Given the description of an element on the screen output the (x, y) to click on. 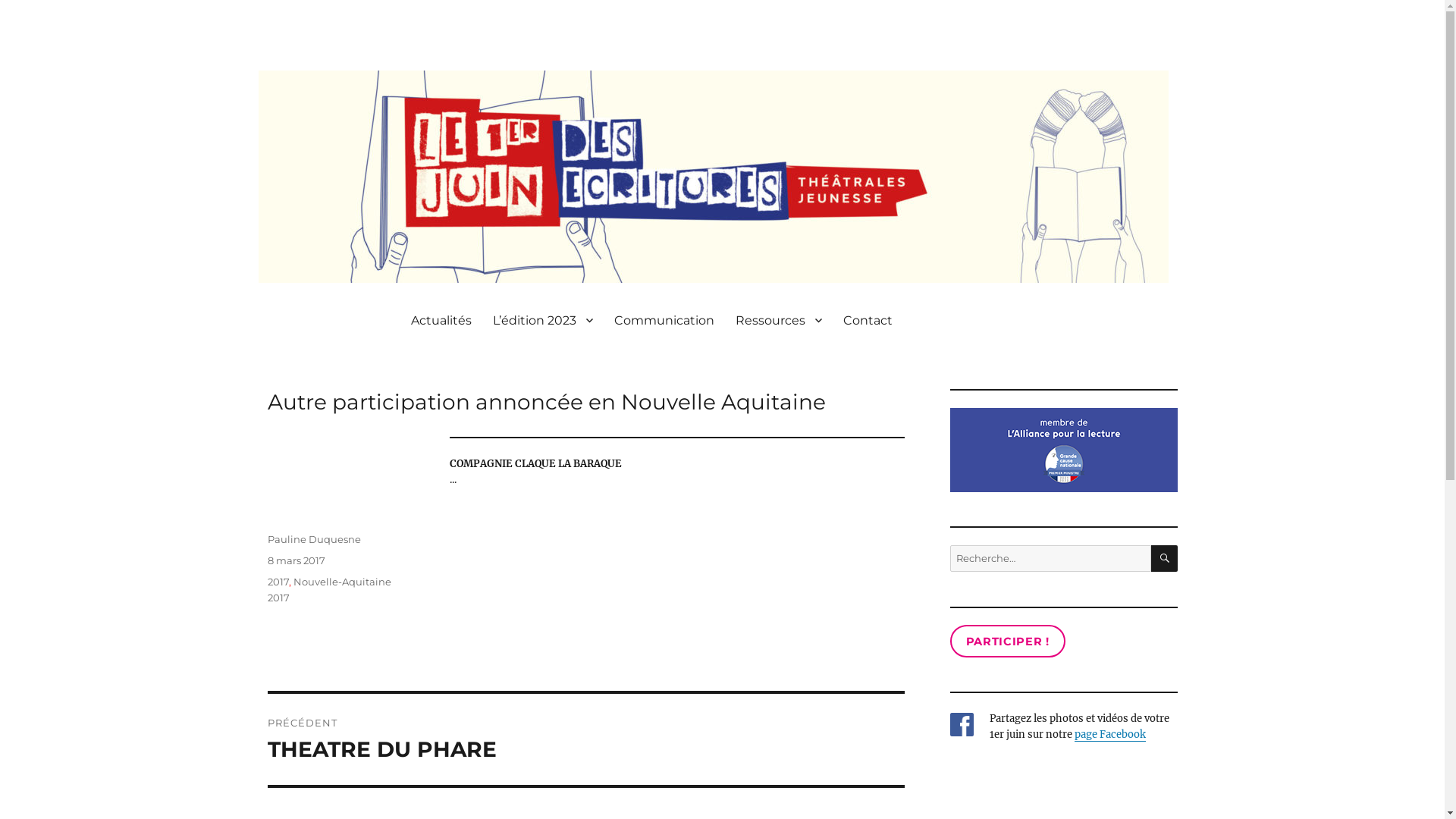
PARTICIPER ! Element type: text (1007, 640)
Pauline Duquesne Element type: text (313, 539)
Contact Element type: text (867, 319)
Nouvelle-Aquitaine 2017 Element type: text (328, 589)
page Facebook Element type: text (1109, 734)
Ressources Element type: text (778, 319)
2017 Element type: text (277, 581)
8 mars 2017 Element type: text (295, 560)
RECHERCHE Element type: text (1164, 558)
Communication Element type: text (663, 319)
